Given the description of an element on the screen output the (x, y) to click on. 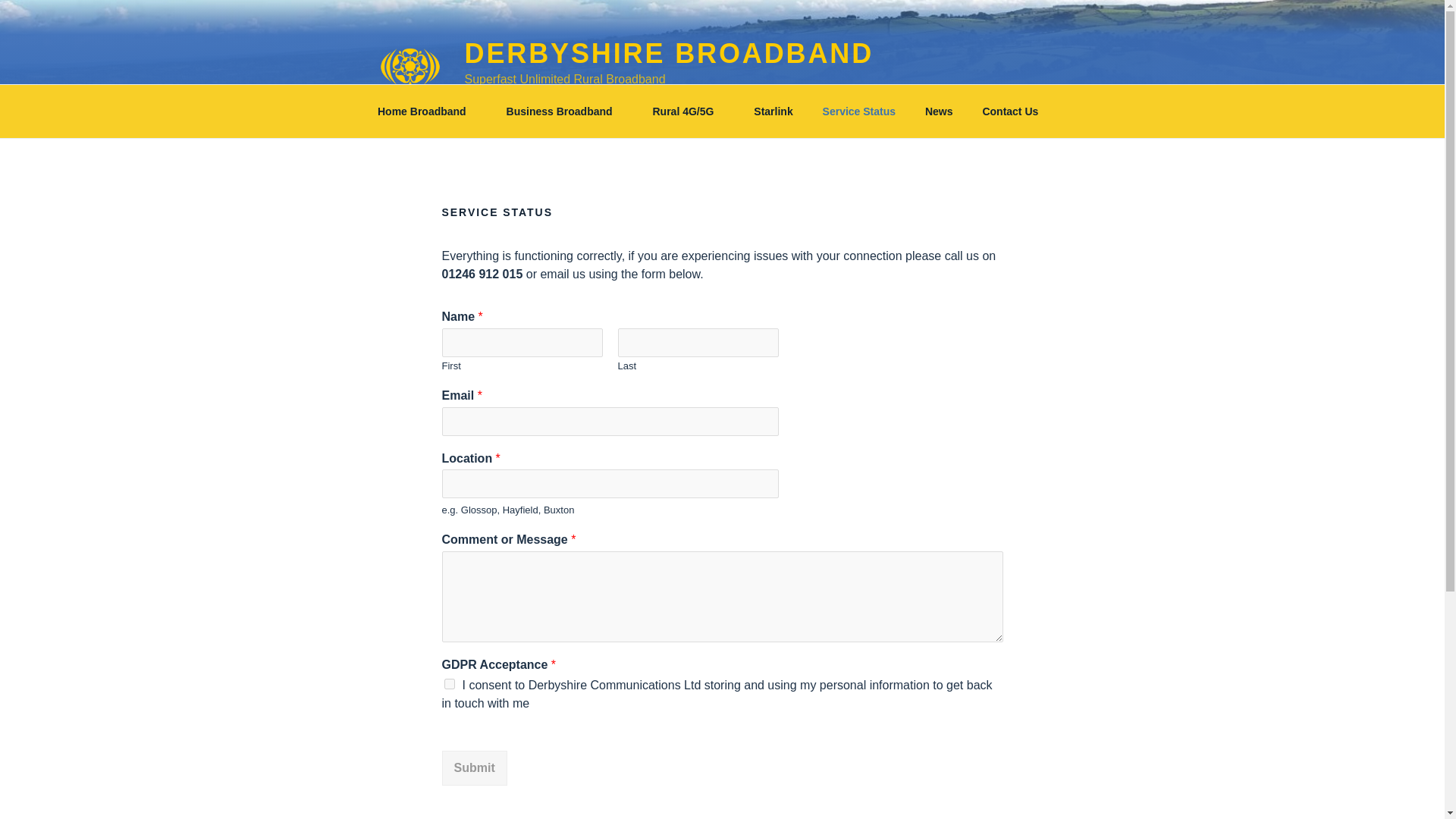
Starlink (773, 110)
DERBYSHIRE BROADBAND (668, 52)
Service Status (858, 110)
Business Broadband (564, 110)
News (938, 110)
Contact Us (1015, 110)
Home Broadband (426, 110)
Submit (473, 768)
